Given the description of an element on the screen output the (x, y) to click on. 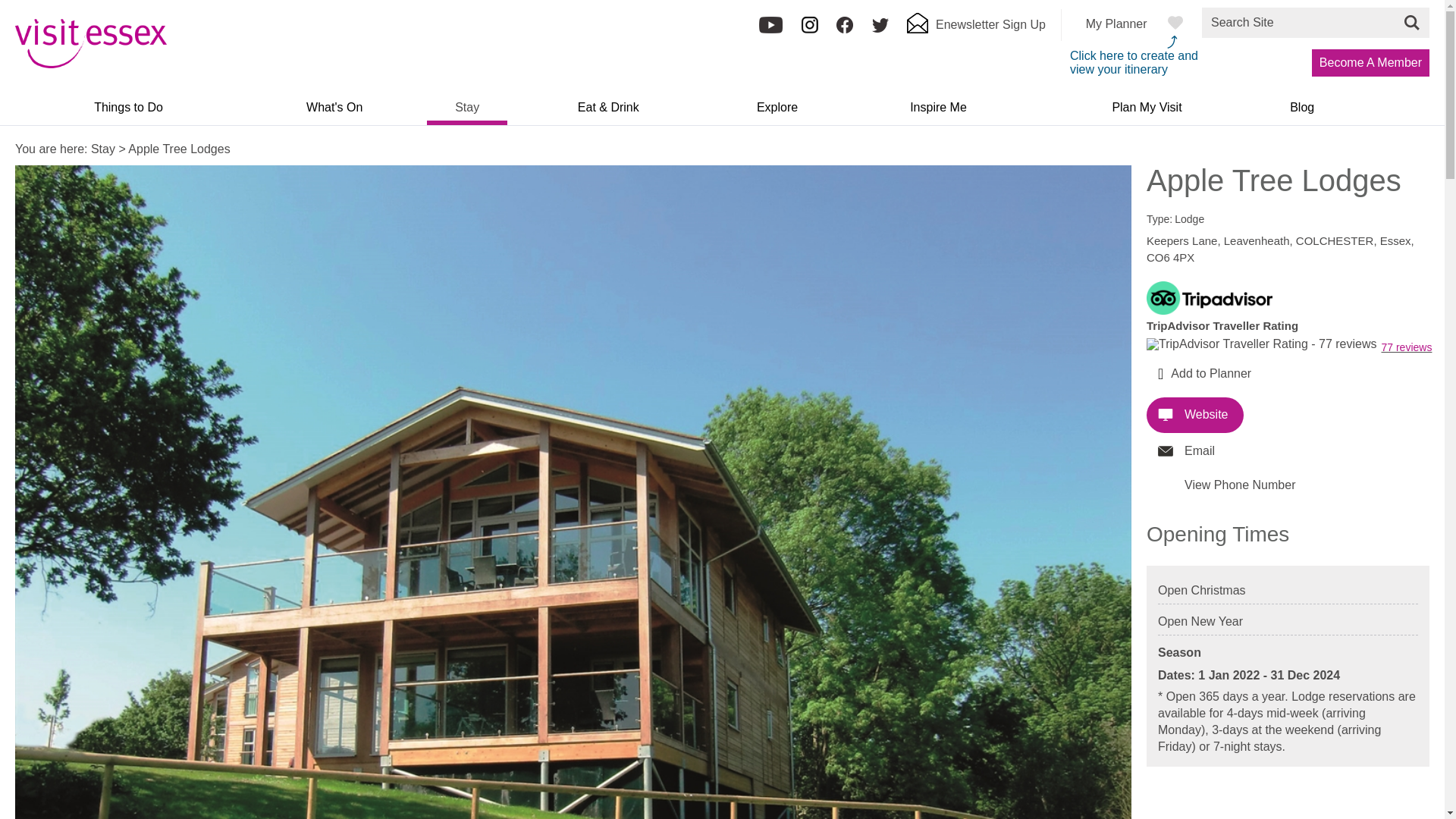
Become A Member (1370, 62)
Things to Do (127, 112)
Return to Homepage (90, 63)
Visit Essex Instagram (810, 30)
Enewsletter Sign Up (976, 29)
Visit Essex Newsletter Sign Up (976, 29)
Things to Do (127, 112)
Visit Essex Facebook (844, 30)
Visit Essex youtube (770, 30)
Visit Essex Twitter (880, 30)
